Given the description of an element on the screen output the (x, y) to click on. 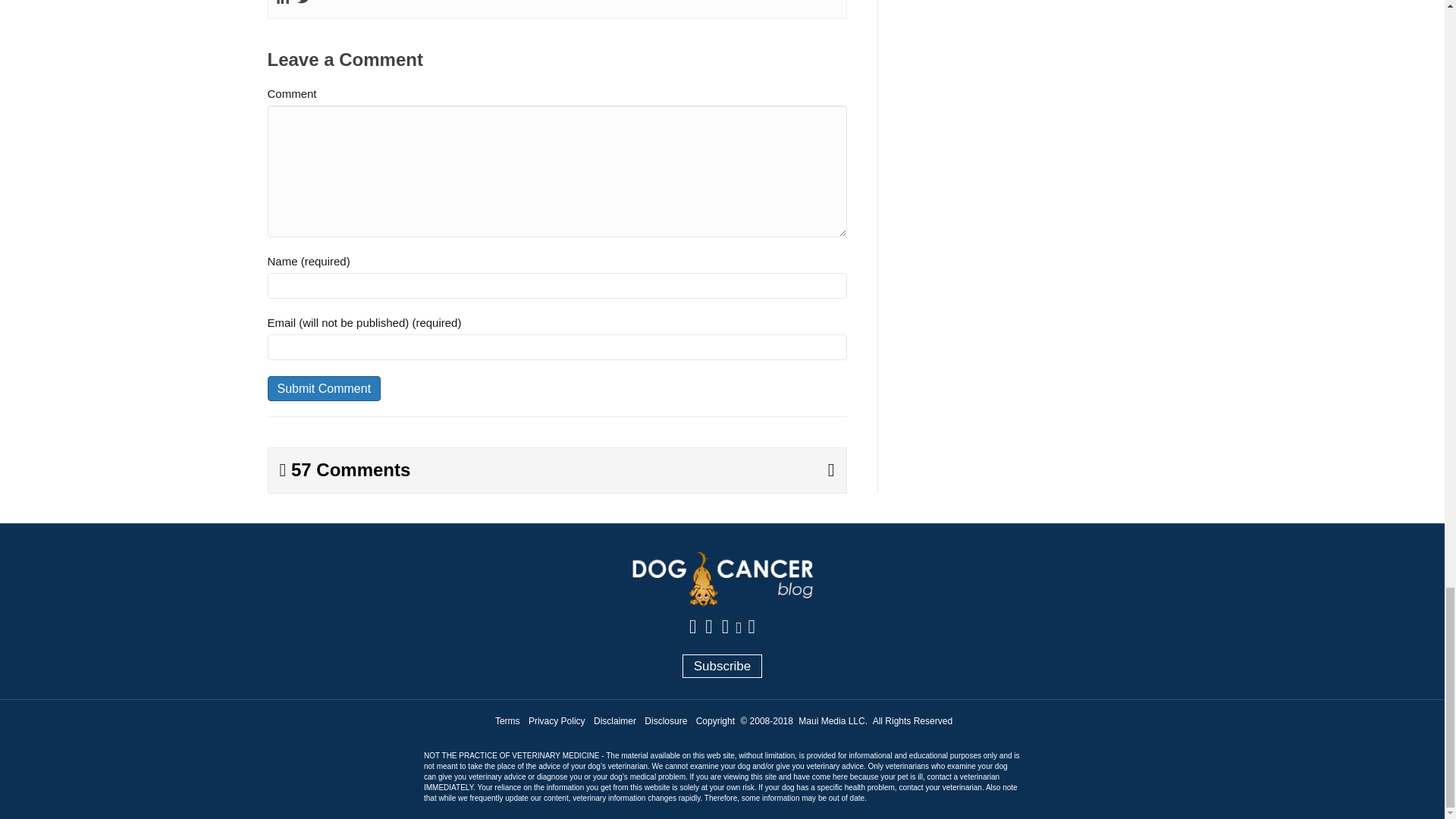
Terms of Service (507, 720)
Subscribe to Dog Cancer News for Weekly Updates (722, 666)
Submit Comment (323, 388)
Linkedin (282, 3)
Twitter (304, 3)
